Given the description of an element on the screen output the (x, y) to click on. 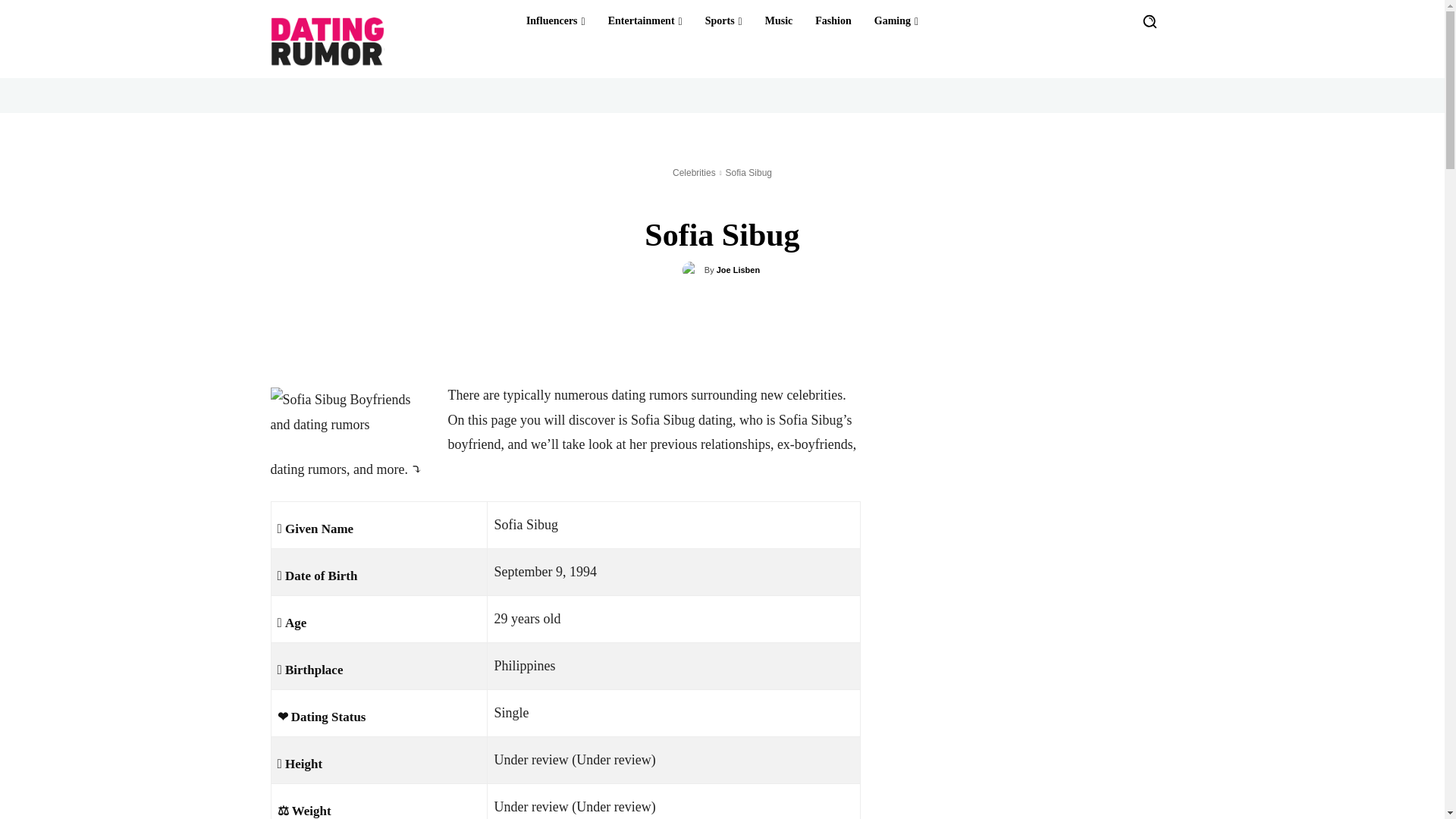
Gaming (896, 20)
Influencers (555, 20)
Music (778, 20)
Sports (723, 20)
Entertainment (644, 20)
Fashion (833, 20)
